Given the description of an element on the screen output the (x, y) to click on. 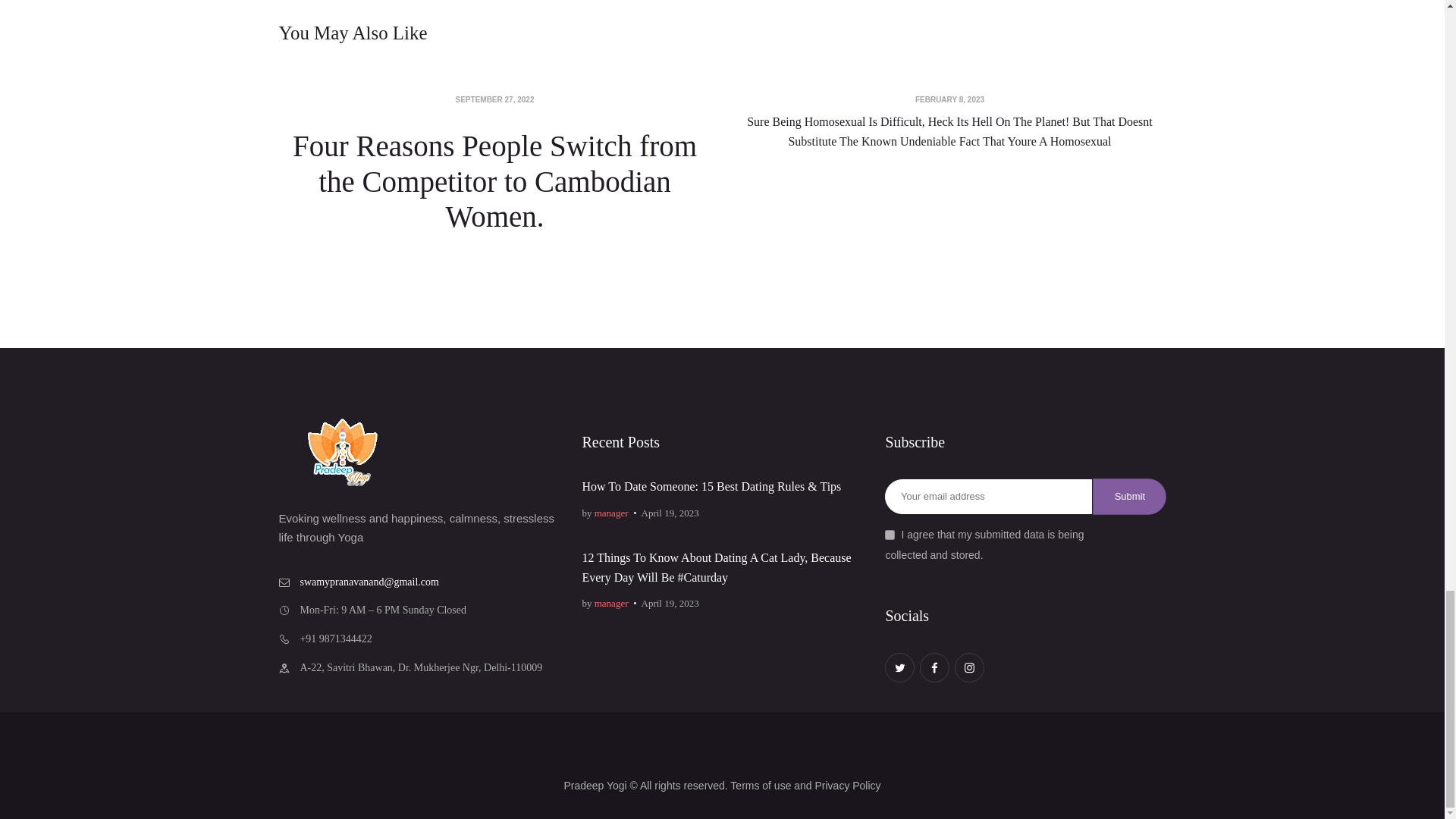
1 (890, 534)
Submit (1129, 496)
